Given the description of an element on the screen output the (x, y) to click on. 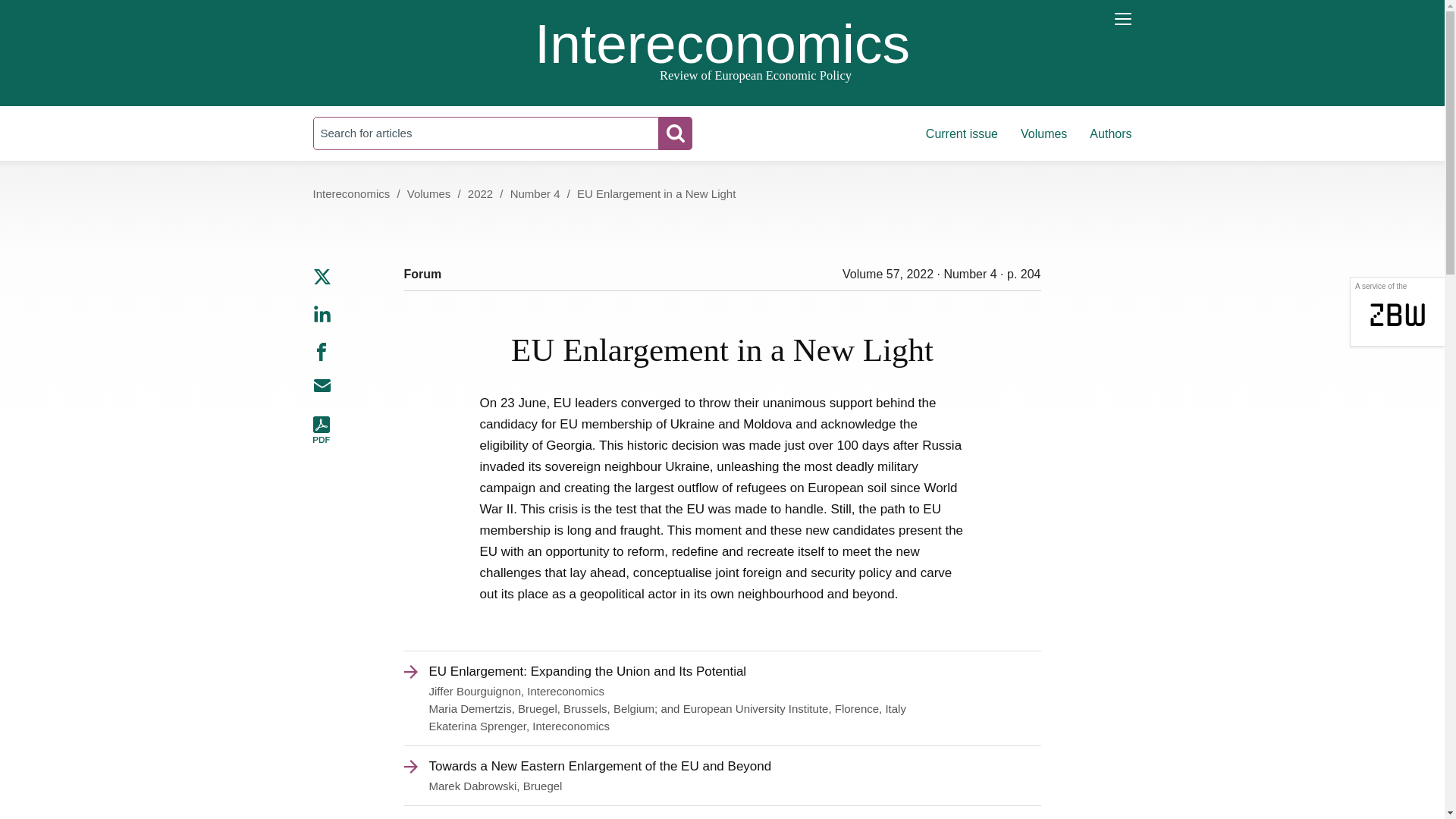
Download article as PDF (321, 440)
2022 (480, 193)
Share on LinkedIn (322, 319)
Share on LinkedIn (322, 313)
Share per e-mail (322, 385)
Share on X (322, 282)
EU Enlargement: Expanding the Union and Its Potential (722, 670)
Volumes (429, 193)
Volumes (1043, 133)
Share per e-mail (322, 391)
Share on Facebook (322, 351)
Suche starten (674, 133)
Share on X (322, 276)
Current issue (961, 133)
Share on LinkedIn (322, 319)
